Given the description of an element on the screen output the (x, y) to click on. 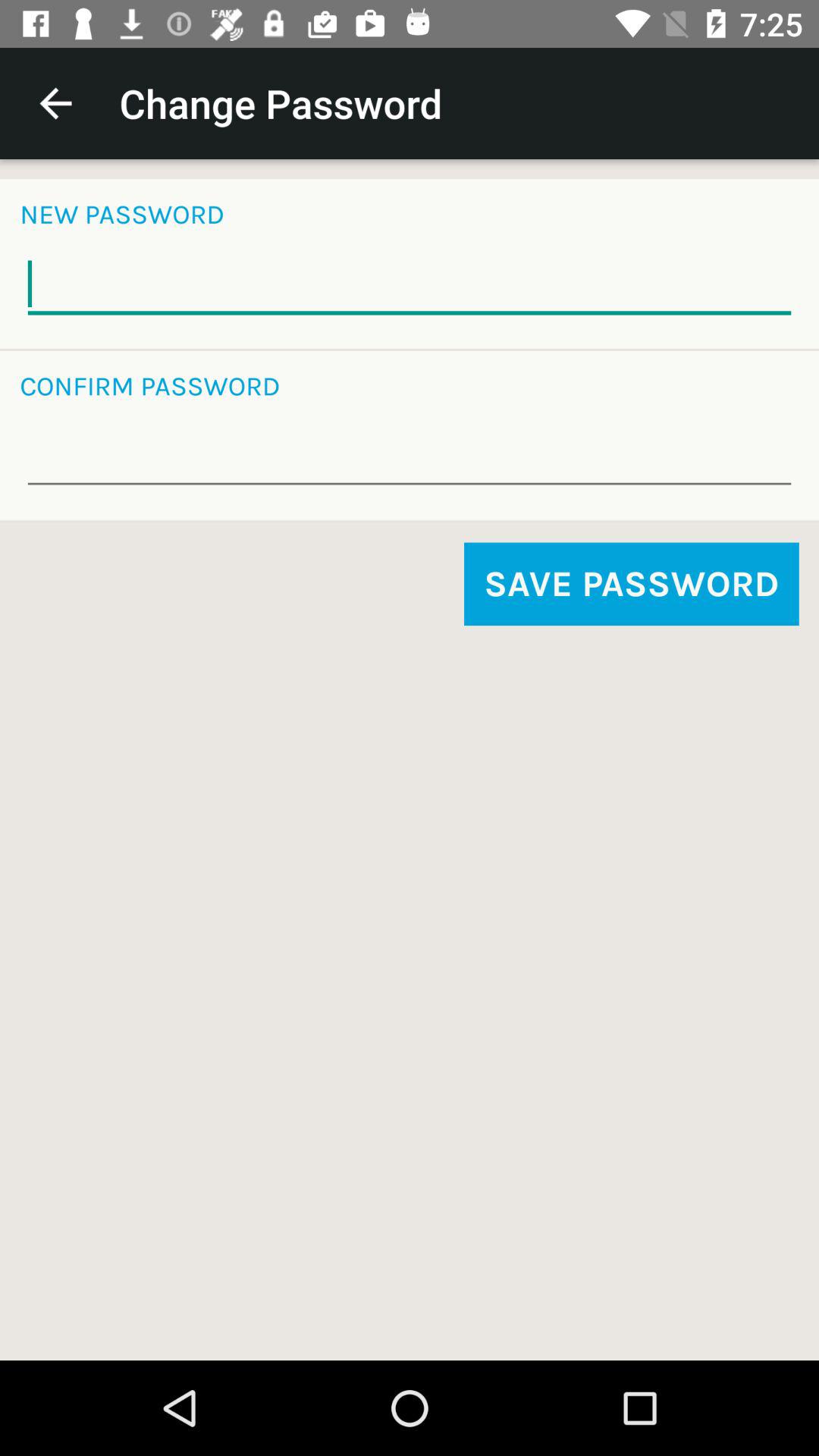
click item on the right (631, 583)
